Given the description of an element on the screen output the (x, y) to click on. 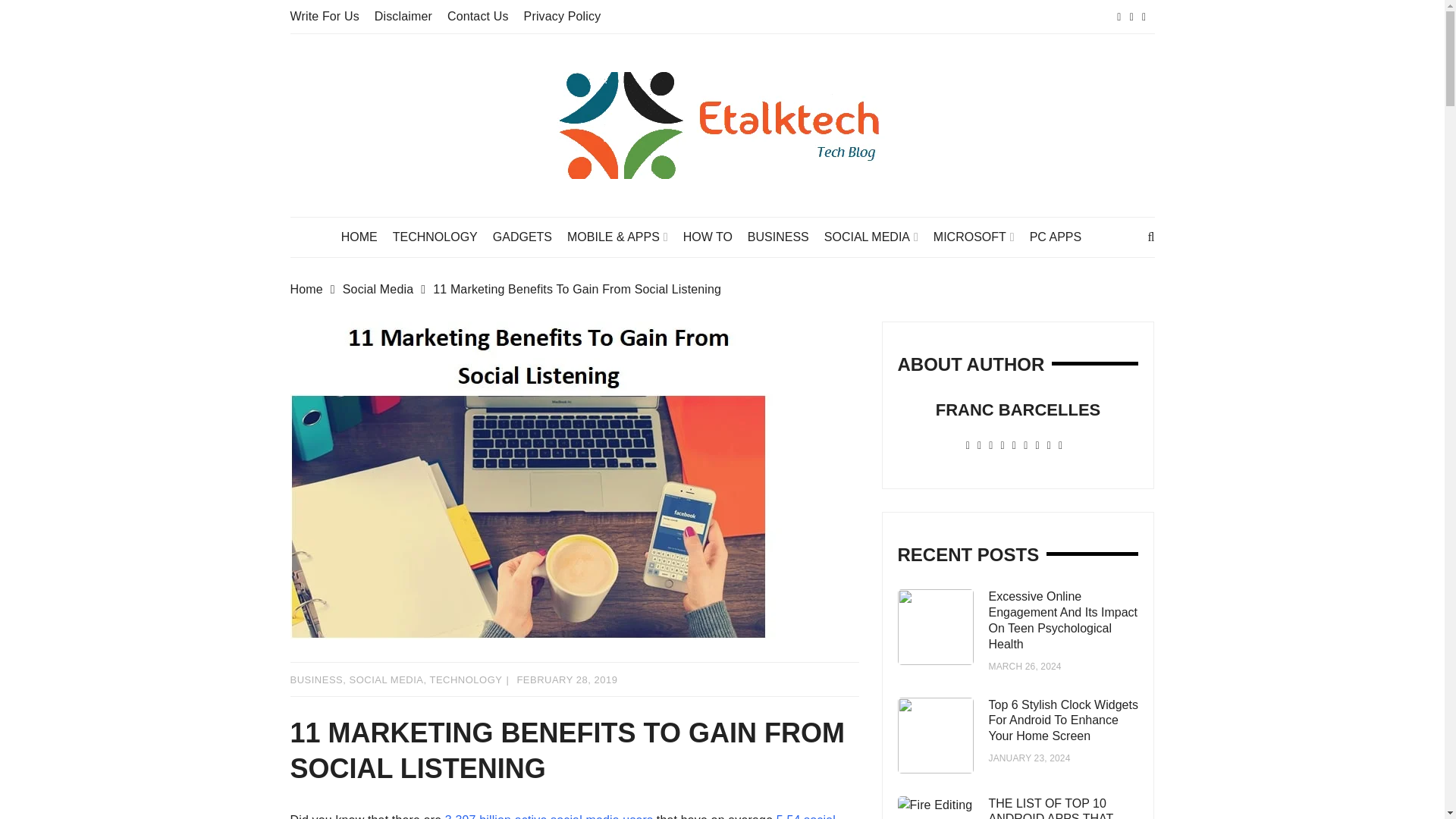
SOCIAL MEDIA (878, 237)
BUSINESS (786, 237)
PC APPS (1062, 237)
Contact Us (477, 16)
Privacy Policy (562, 16)
FEBRUARY 28, 2019 (566, 679)
HOME (366, 237)
TECHNOLOGY (443, 237)
TECHNOLOGY (465, 679)
SOCIAL MEDIA (386, 679)
Home (315, 289)
Social Media (387, 289)
Disclaimer (403, 16)
HOW TO (715, 237)
